Given the description of an element on the screen output the (x, y) to click on. 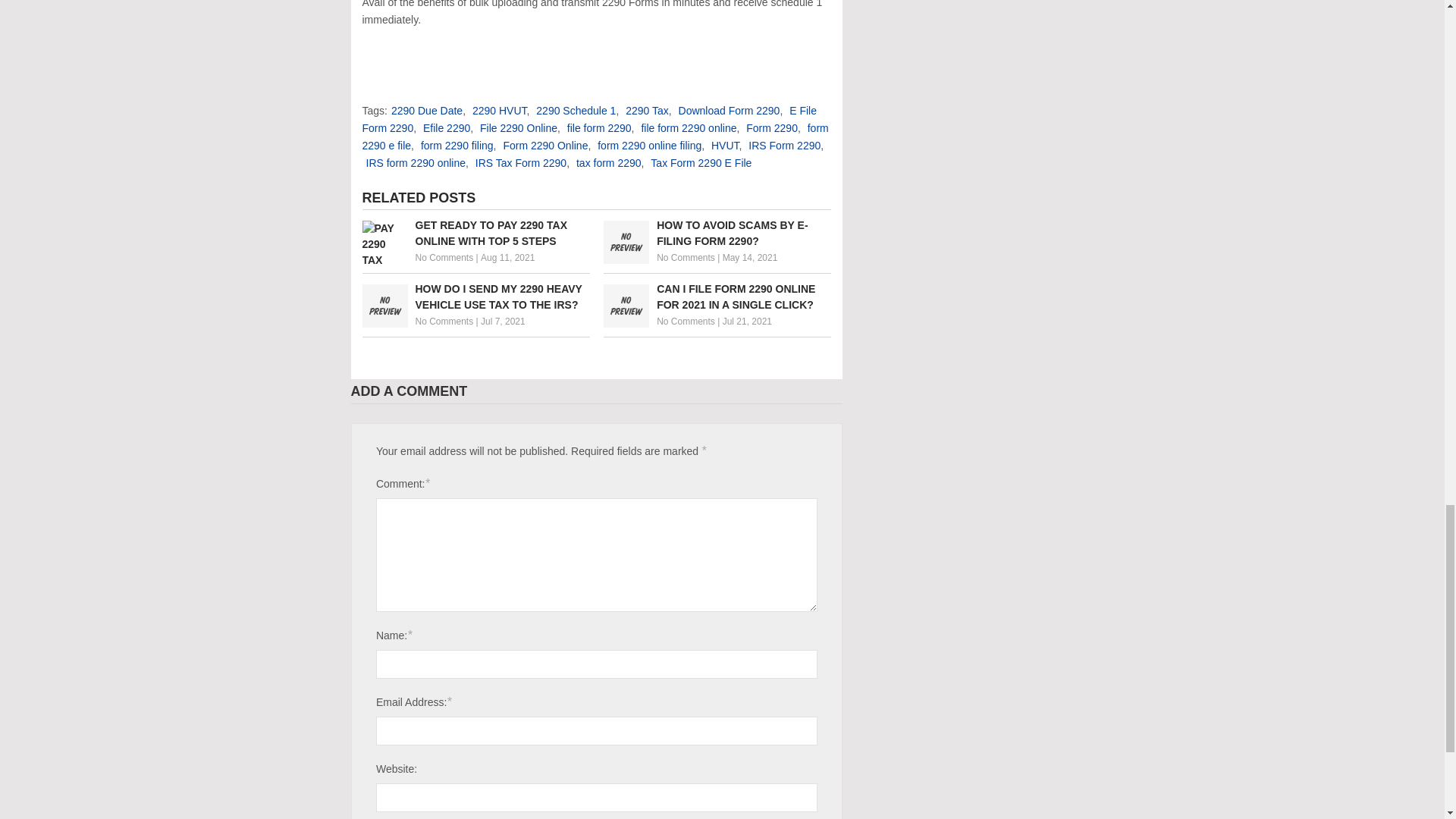
E File Form 2290 (589, 119)
2290 Due Date (427, 110)
2290 HVUT (499, 110)
2290 Schedule 1 (575, 110)
Download Form 2290 (729, 110)
IRS Tax Form 2290 (521, 162)
Tax Form 2290 E File (700, 162)
2290 Tax (647, 110)
Form 2290 Online (545, 145)
tax form 2290 (609, 162)
form 2290 filing (456, 145)
file form 2290 (599, 128)
IRS Form 2290 (784, 145)
file form 2290 online (688, 128)
Form 2290 (771, 128)
